Given the description of an element on the screen output the (x, y) to click on. 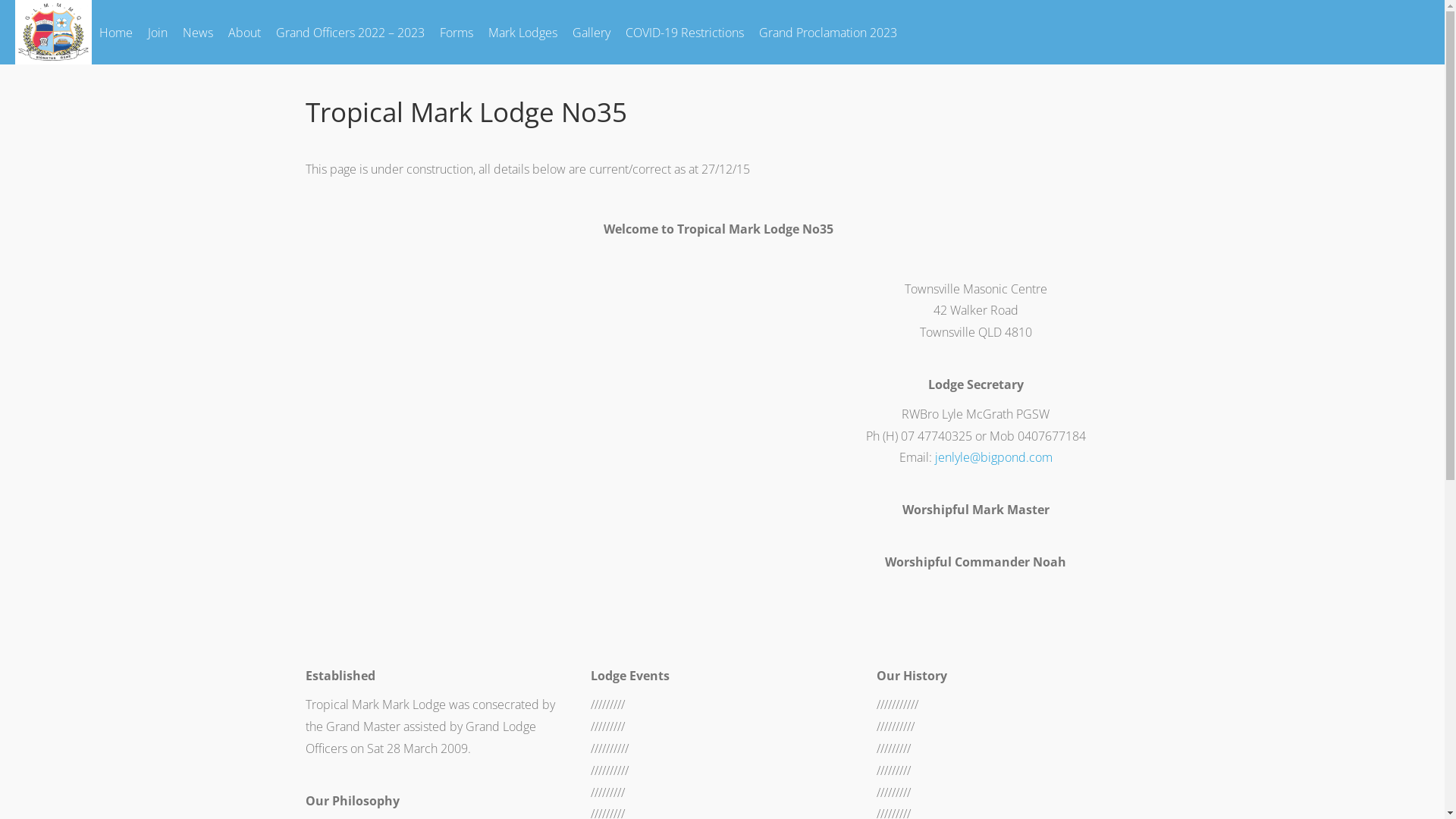
Join Element type: text (157, 31)
COVID-19 Restrictions Element type: text (684, 31)
jenlyle@bigpond.com Element type: text (992, 456)
Home Element type: text (115, 31)
Gallery Element type: text (591, 31)
News Element type: text (197, 31)
Mark Lodges Element type: text (522, 31)
Forms Element type: text (456, 31)
About Element type: text (244, 31)
Grand Proclamation 2023 Element type: text (827, 31)
